Given the description of an element on the screen output the (x, y) to click on. 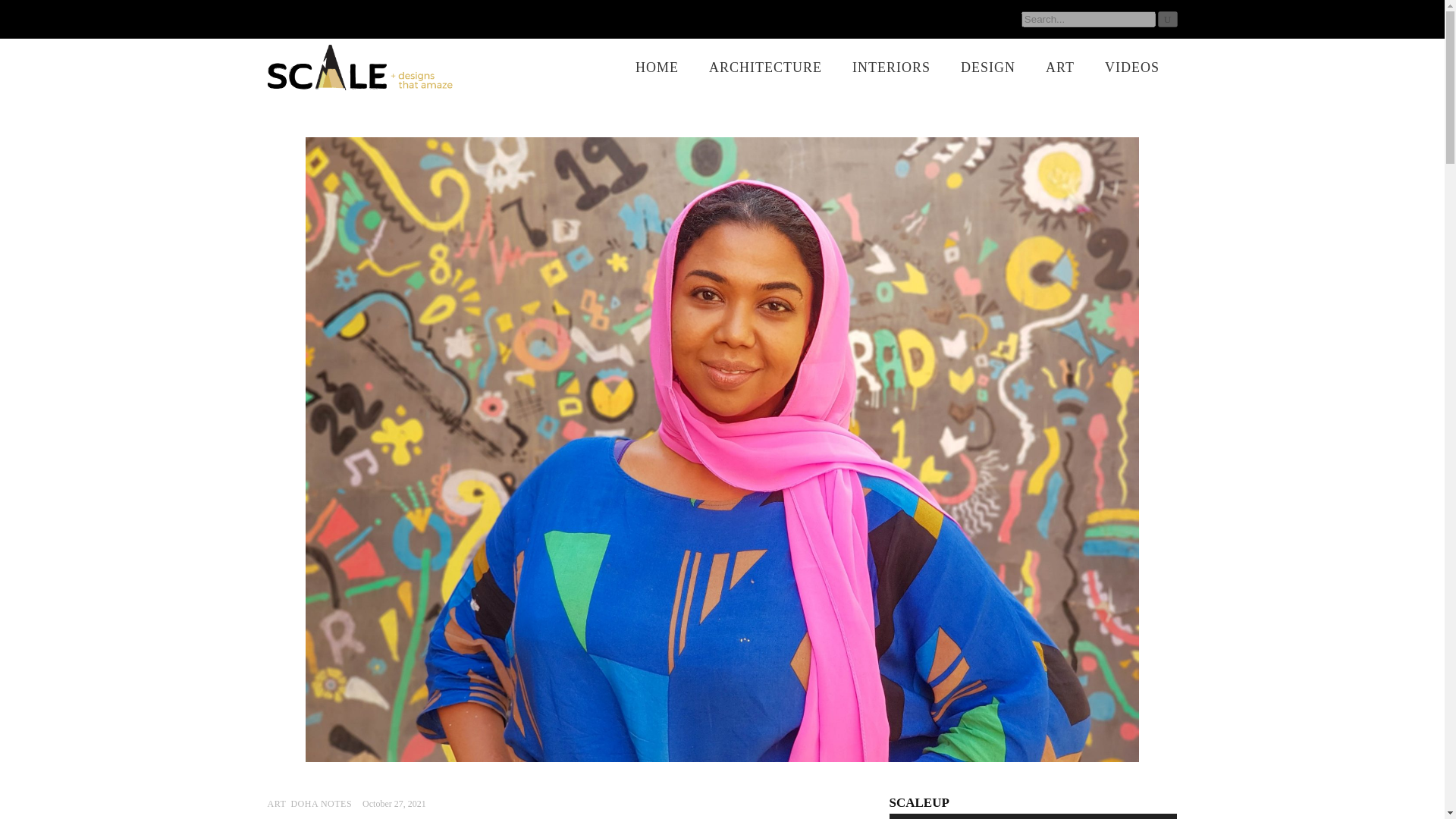
ART (1059, 66)
Search for: (1089, 19)
DESIGN (987, 66)
ARCHITECTURE (765, 66)
INTERIORS (890, 66)
HOME (657, 66)
VIDEOS (1131, 66)
